Given the description of an element on the screen output the (x, y) to click on. 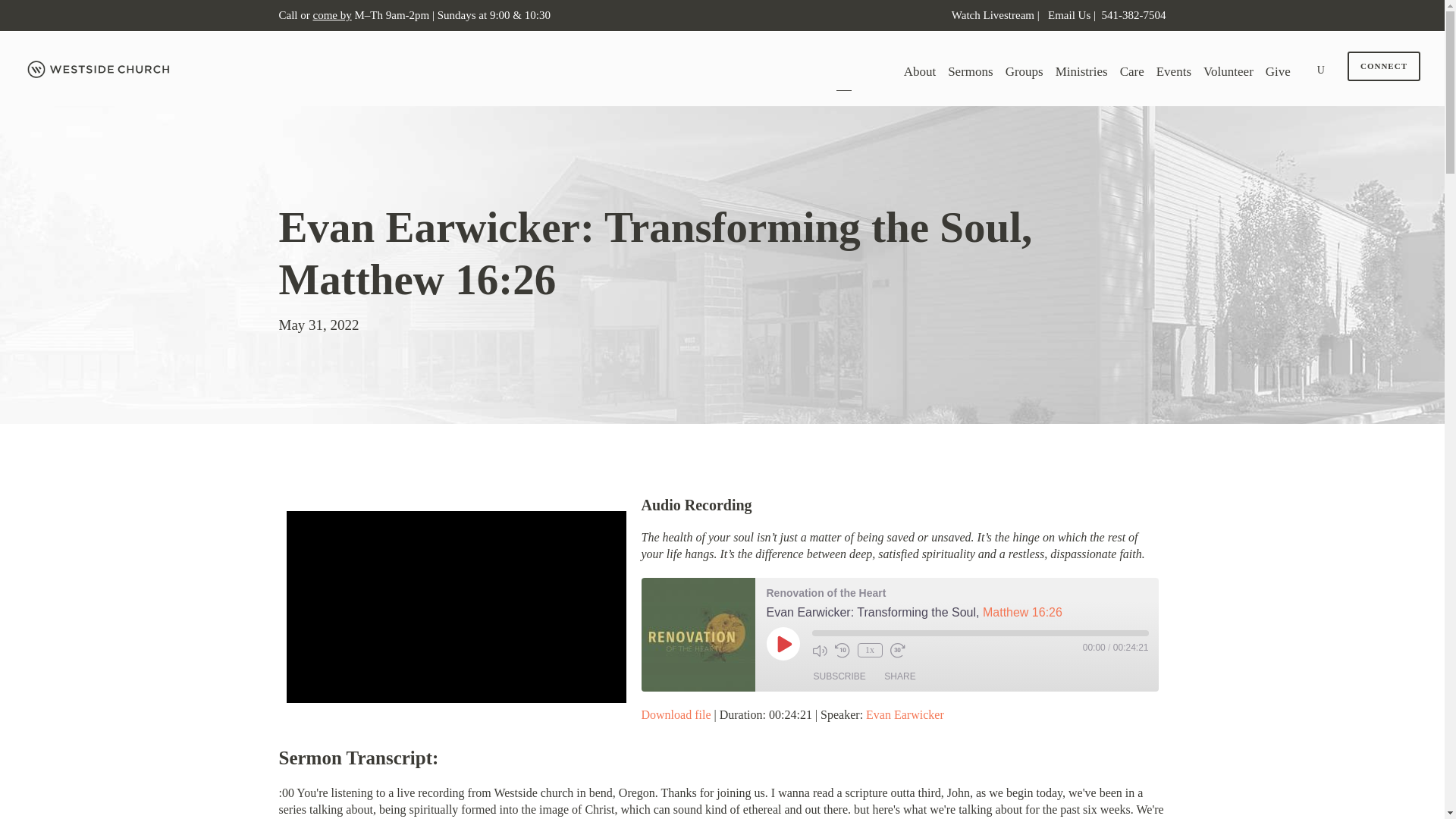
logo-westside-church-2020 (100, 69)
Play (782, 643)
Subscribe (838, 676)
Fast Forward 30 seconds (897, 650)
Sundays (454, 15)
Share (899, 676)
Renovation of the Heart (698, 634)
Playback Speed (869, 649)
Rewind 10 seconds (841, 650)
come by (331, 15)
Seek (979, 632)
